Given the description of an element on the screen output the (x, y) to click on. 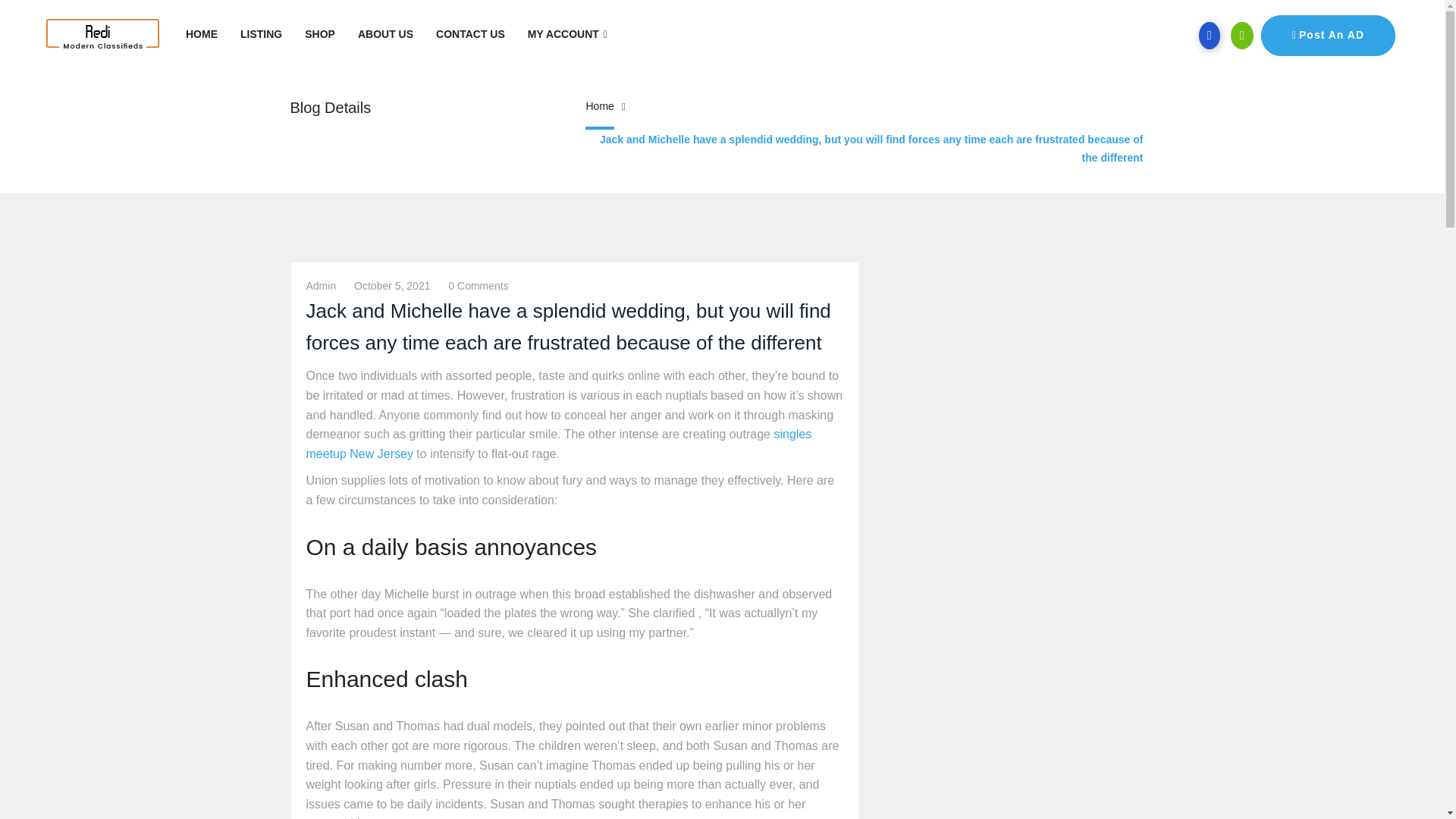
Post An AD (1327, 35)
LISTING (261, 34)
0 Comments (478, 285)
Admin (320, 285)
CONTACT US (470, 34)
HOME (201, 34)
MY ACCOUNT (567, 34)
October 5, 2021 (391, 285)
